Given the description of an element on the screen output the (x, y) to click on. 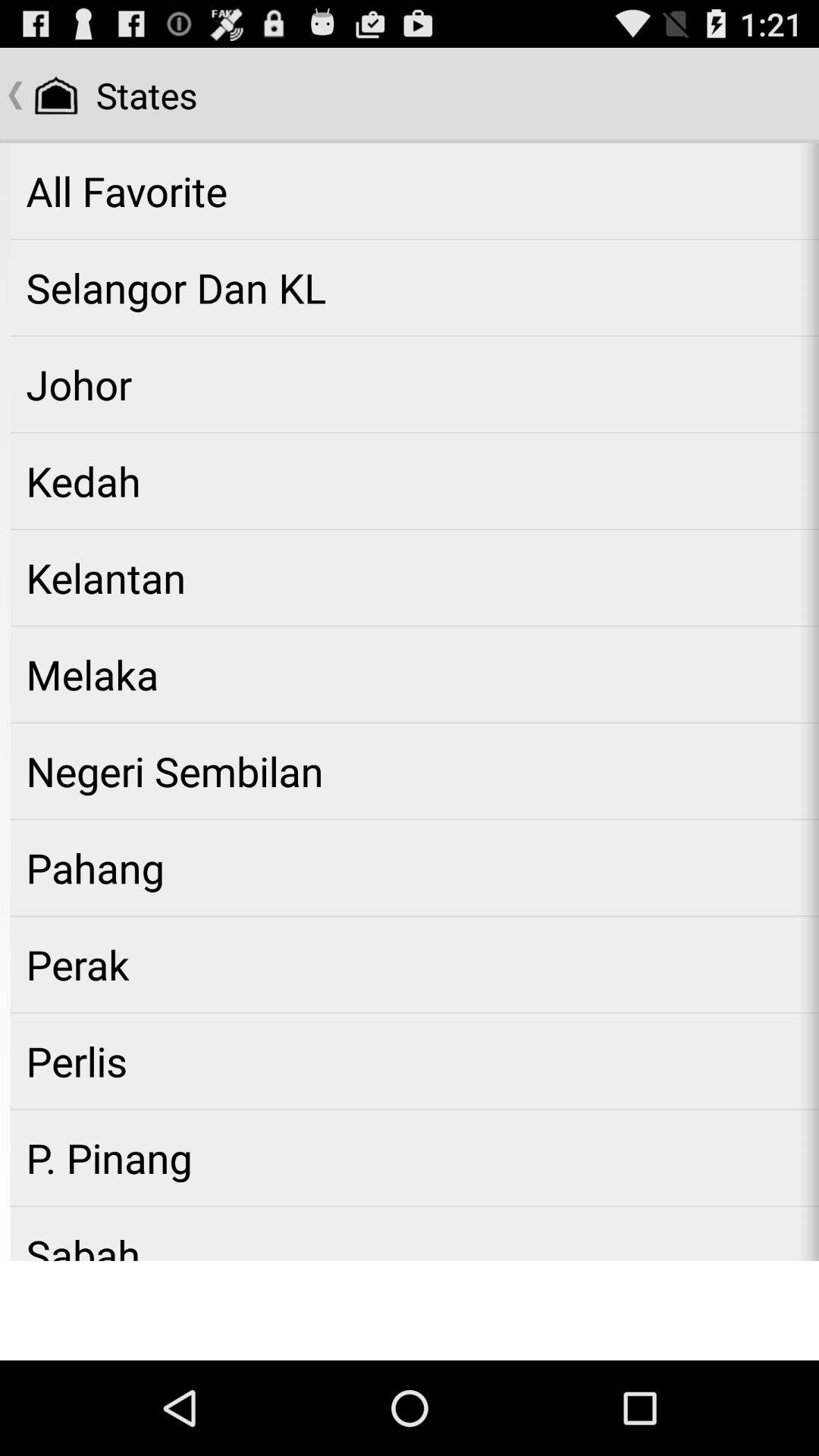
flip until selangor dan kl (414, 287)
